Given the description of an element on the screen output the (x, y) to click on. 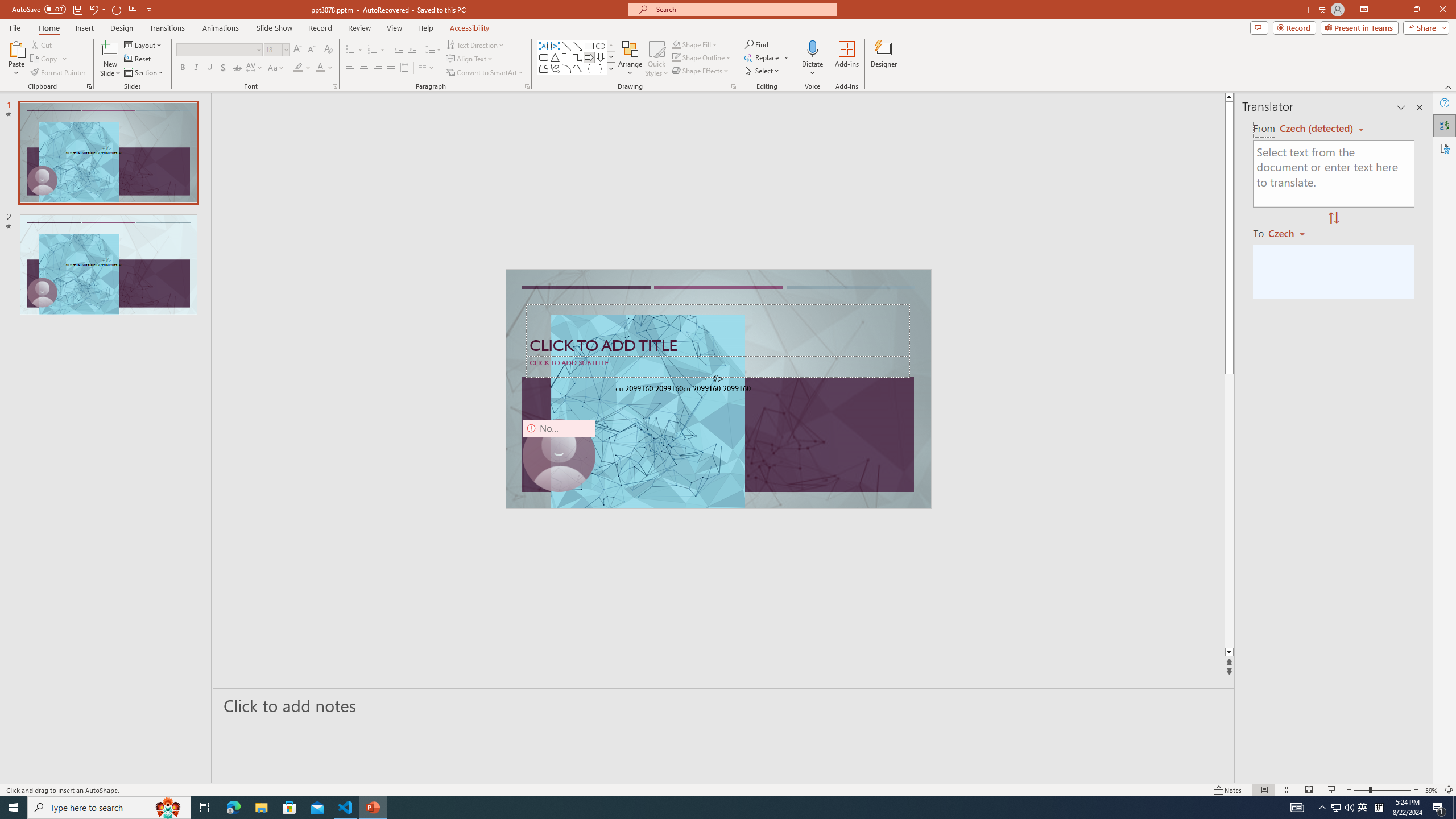
Swap "from" and "to" languages. (1333, 218)
